Given the description of an element on the screen output the (x, y) to click on. 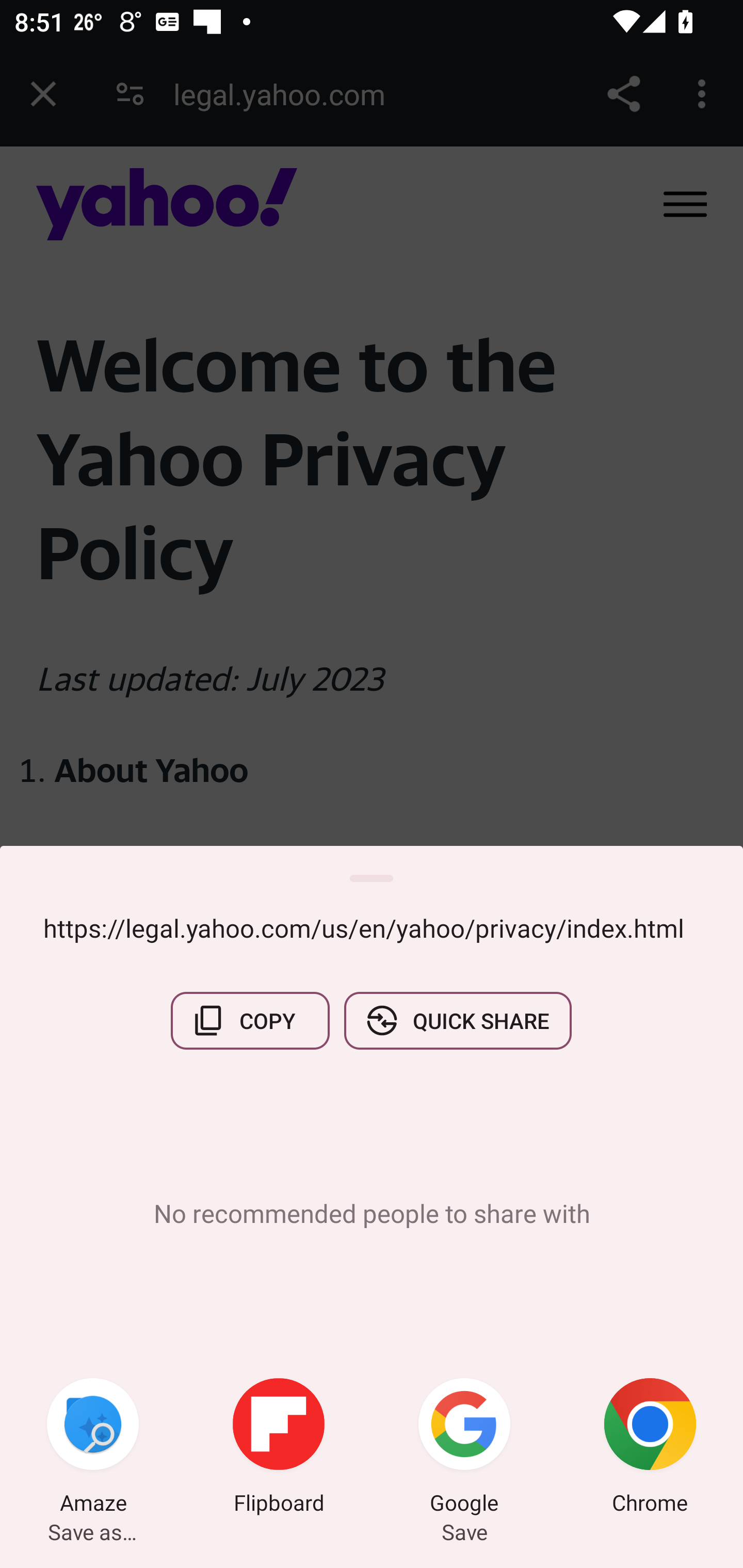
COPY (249, 1020)
QUICK SHARE (457, 1020)
Amaze Save as… (92, 1448)
Flipboard (278, 1448)
Google Save (464, 1448)
Chrome (650, 1448)
